Given the description of an element on the screen output the (x, y) to click on. 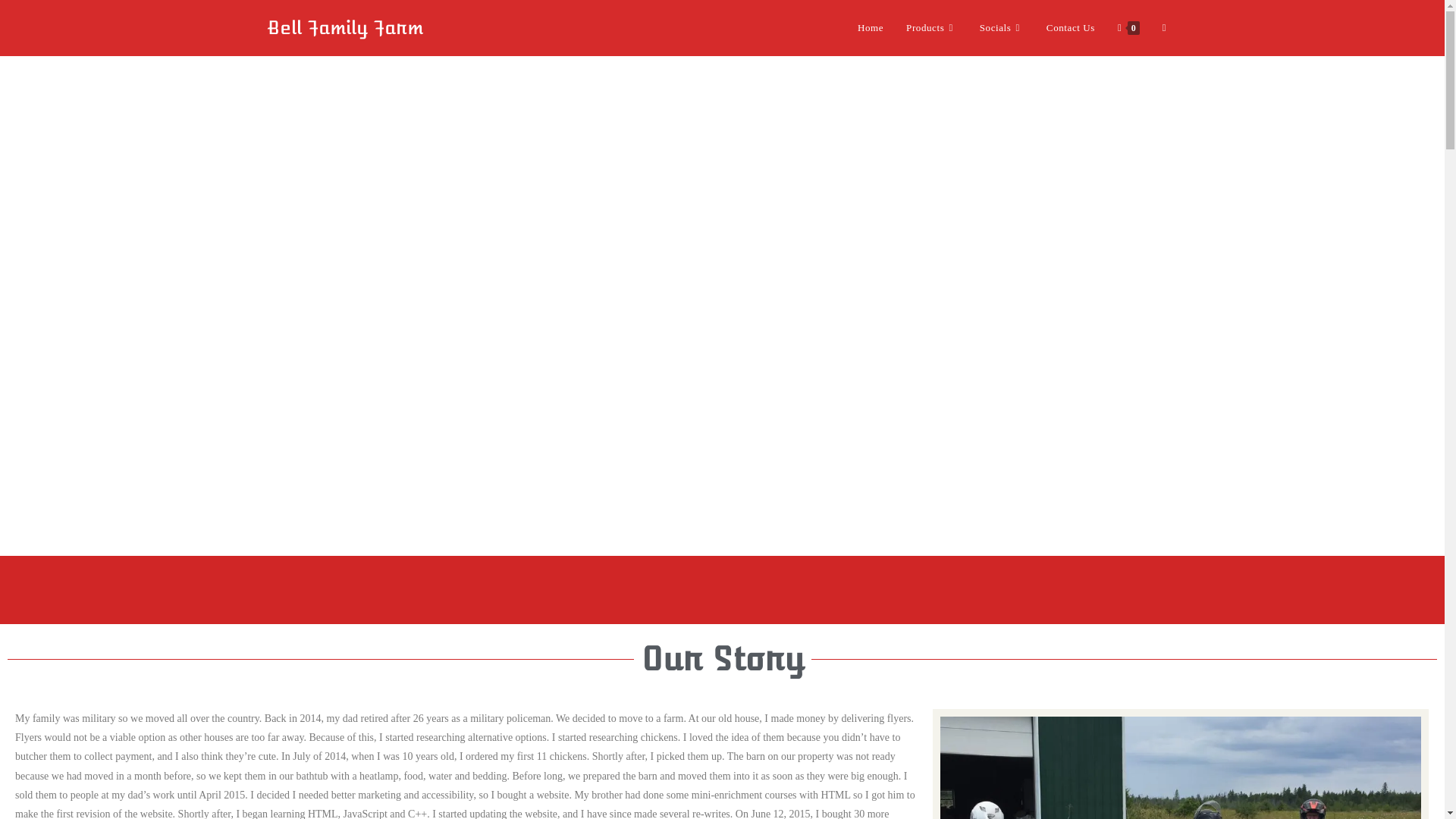
Products Element type: text (931, 28)
Socials Element type: text (1001, 28)
Bell Family Farm Element type: text (344, 27)
Home Element type: text (870, 28)
Contact Us Element type: text (1070, 28)
0 Element type: text (1128, 28)
